Given the description of an element on the screen output the (x, y) to click on. 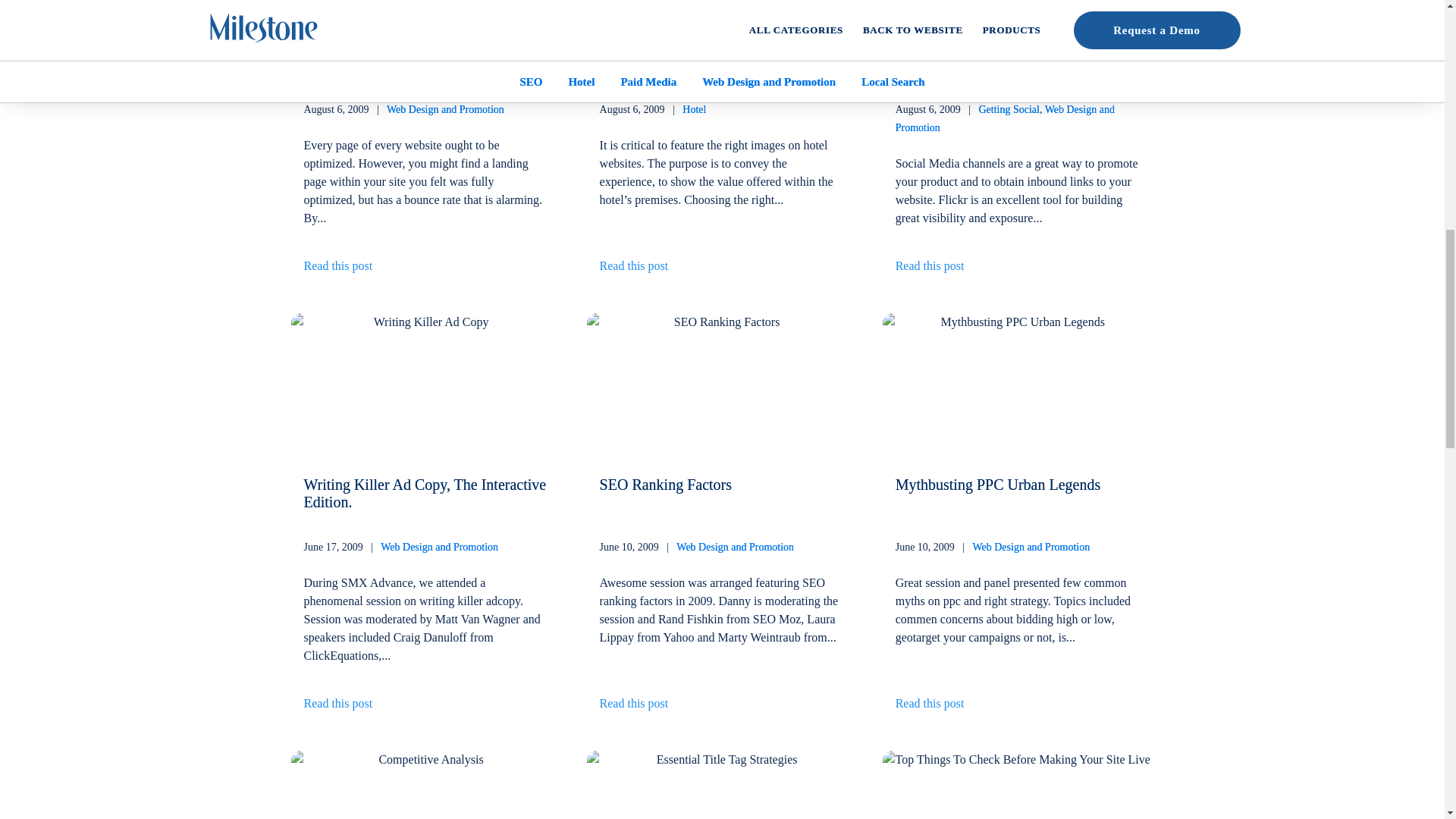
View all posts in Getting Social (1008, 109)
Using Flickr for Linkbuilding and Building Content (998, 55)
Using Flickr for Linkbuilding and Building Content (998, 55)
View all posts in Web Design and Promotion (735, 546)
Web Design and Promotion (445, 109)
View all posts in Web Design and Promotion (1030, 546)
Getting Social (1008, 109)
View all posts in Hotel (694, 109)
View all posts in Web Design and Promotion (445, 109)
View all posts in Web Design and Promotion (1005, 118)
5 ways to Improve Landing Page Conversion (402, 55)
Web Design and Promotion (337, 271)
